Given the description of an element on the screen output the (x, y) to click on. 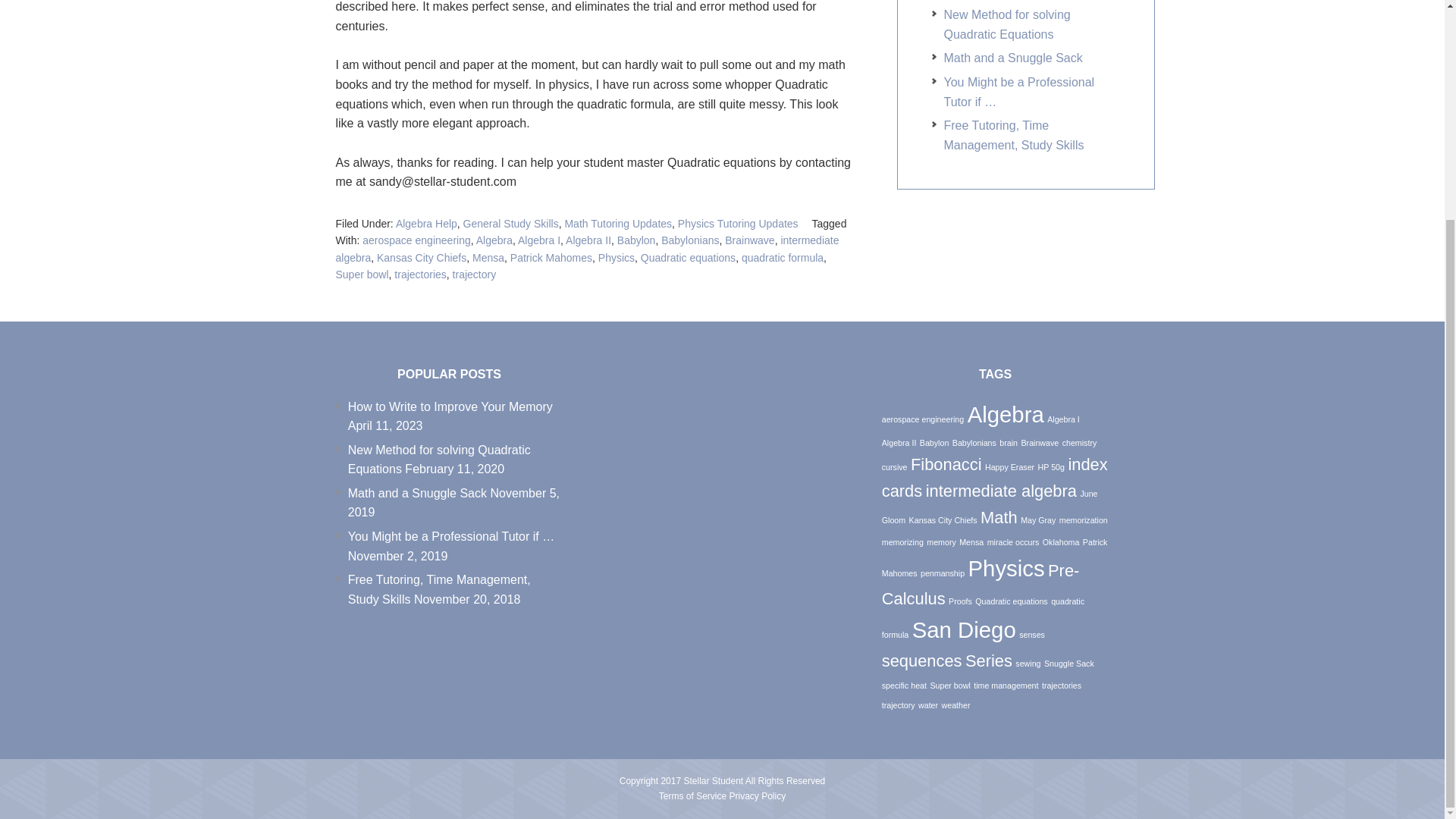
Algebra Help (426, 223)
aerospace engineering (416, 240)
Physics Tutoring Updates (737, 223)
Math Tutoring Updates (617, 223)
Algebra II (588, 240)
Babylonians (690, 240)
Algebra (494, 240)
Babylon (636, 240)
Algebra I (539, 240)
General Study Skills (511, 223)
